Given the description of an element on the screen output the (x, y) to click on. 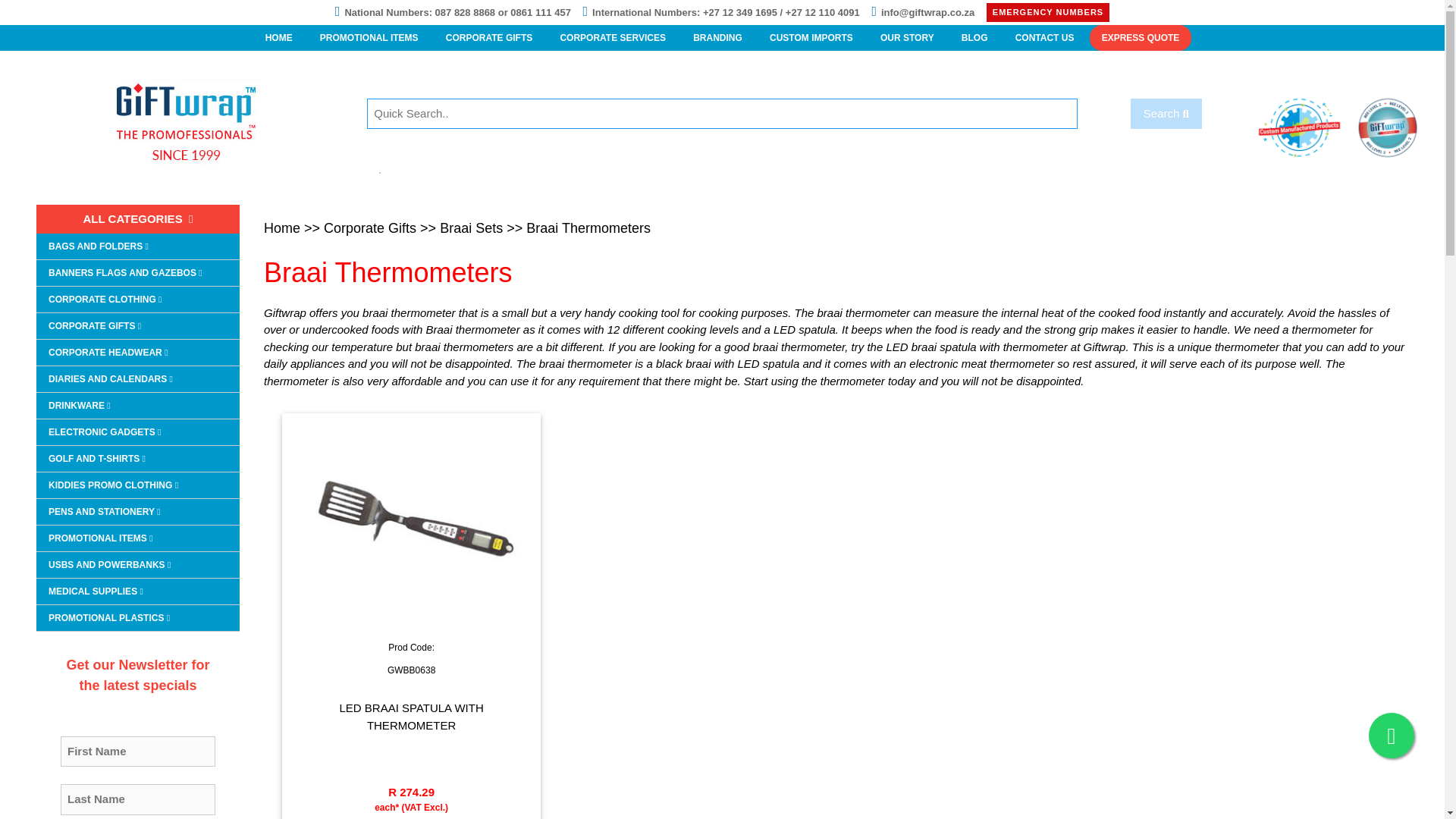
HOME (278, 37)
Corporate Gifts (488, 37)
CUSTOM IMPORTS (810, 37)
CORPORATE SERVICES (612, 37)
BLOG (974, 37)
CONTACT US (1044, 37)
OUR STORY (906, 37)
0861 111 457 (540, 12)
OCUSTOM IMPORTS (810, 37)
Promotional Gifts (368, 37)
CONTACT US (1044, 37)
Search (1166, 113)
087 828 8868 (465, 12)
OUR STORY (974, 37)
BRANDING (717, 37)
